Given the description of an element on the screen output the (x, y) to click on. 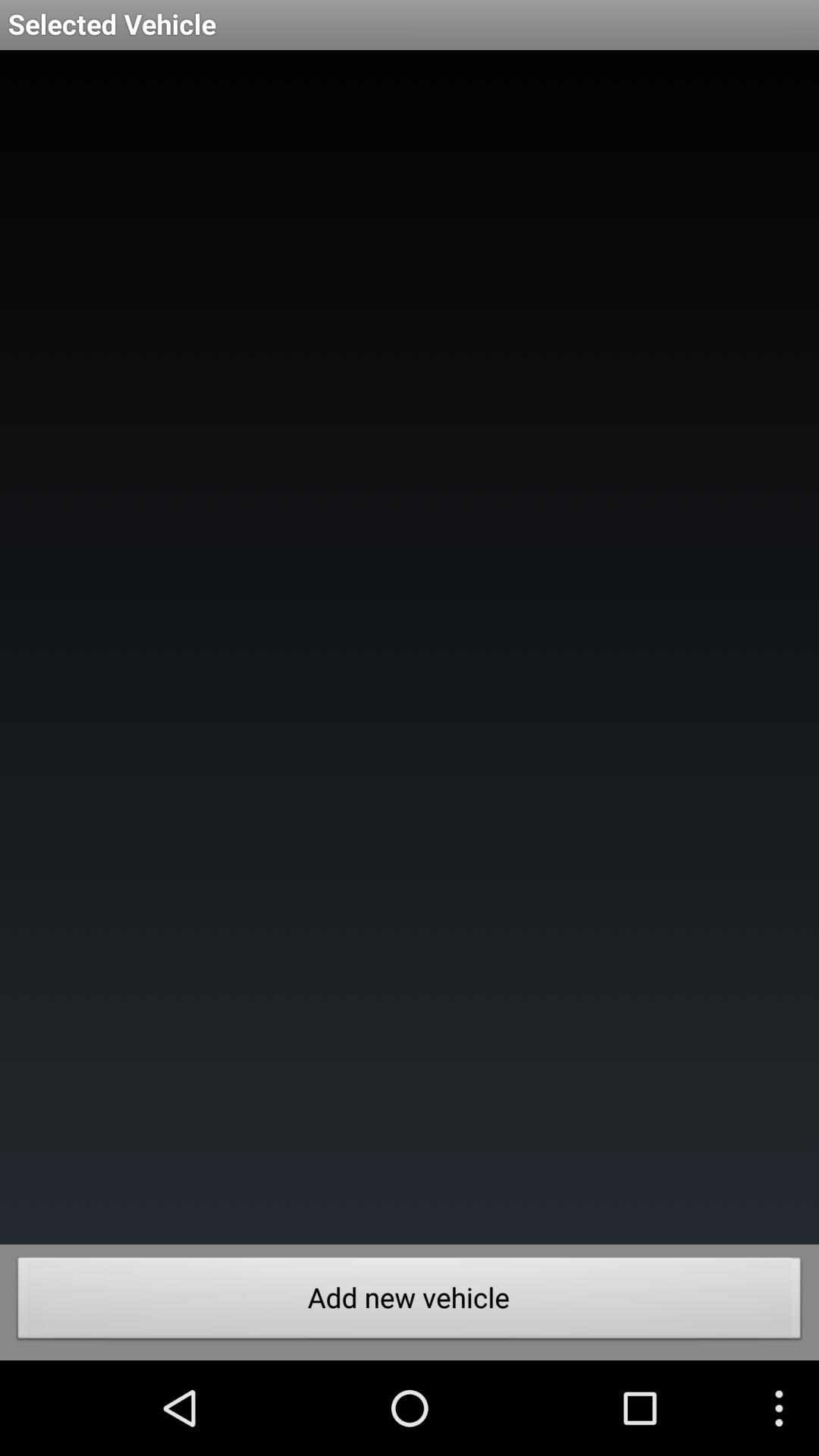
turn on item above add new vehicle item (409, 647)
